Given the description of an element on the screen output the (x, y) to click on. 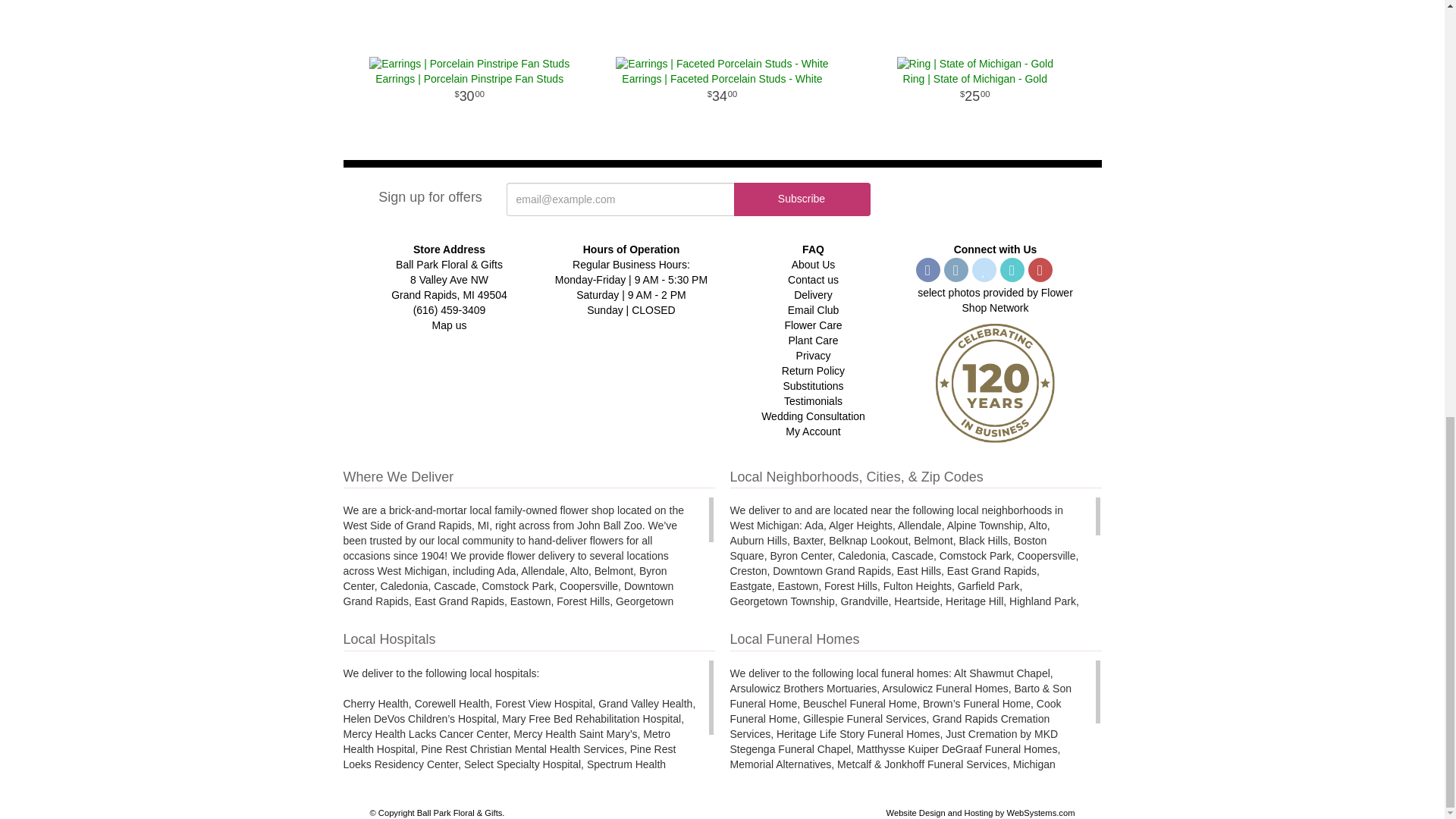
Subscribe (801, 199)
Plant care (812, 340)
Return Policy (812, 370)
